Given the description of an element on the screen output the (x, y) to click on. 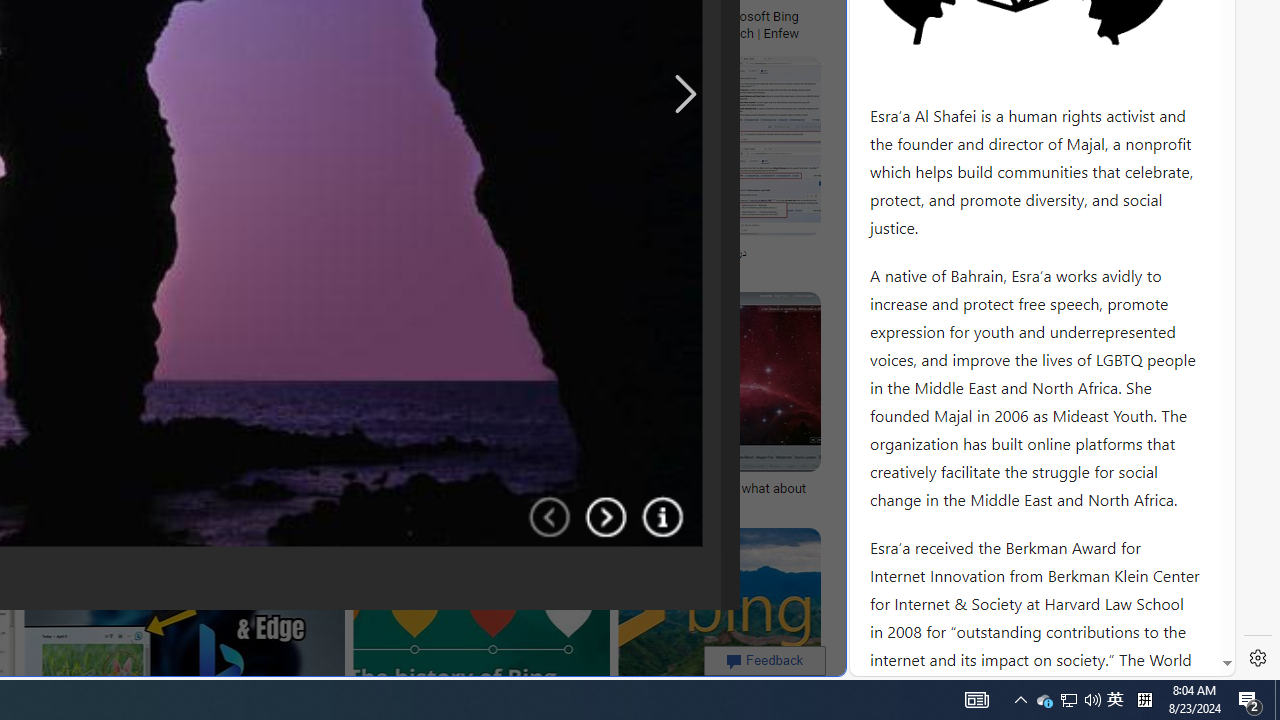
microsoft bing (555, 16)
Bing (2009) (RARE/FAKE) - YouTubeSave (381, 169)
Remove the 'News & Interests' bar from Bing | TechLife (228, 16)
